Given the description of an element on the screen output the (x, y) to click on. 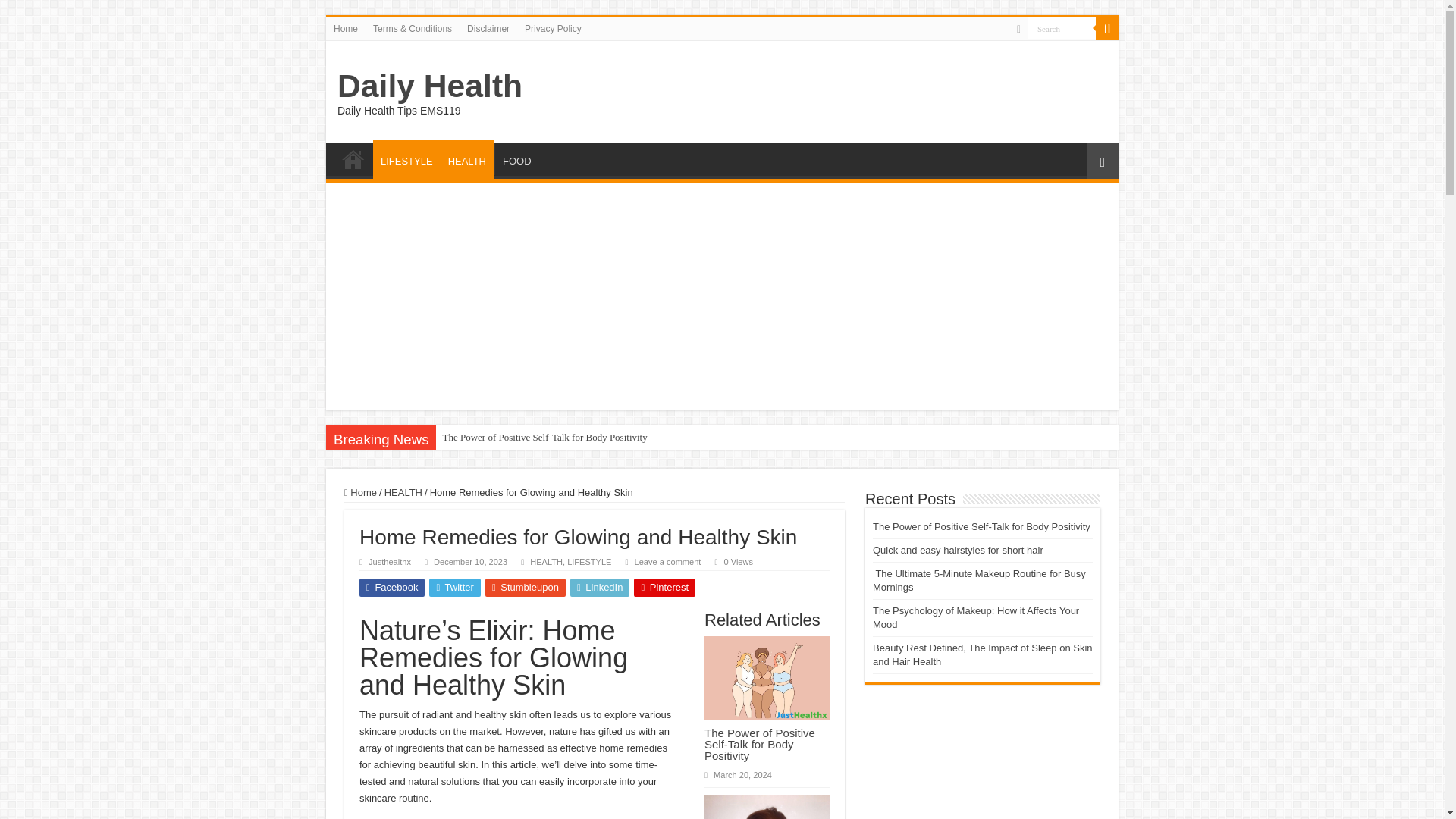
Stumbleupon (525, 587)
Search (1107, 28)
Privacy Policy (552, 28)
HEALTH (545, 561)
Search (1061, 28)
Home (345, 28)
Search (1061, 28)
Daily Health (429, 85)
The Power of Positive Self-Talk for Body Positivity (543, 437)
LinkedIn (600, 587)
